Given the description of an element on the screen output the (x, y) to click on. 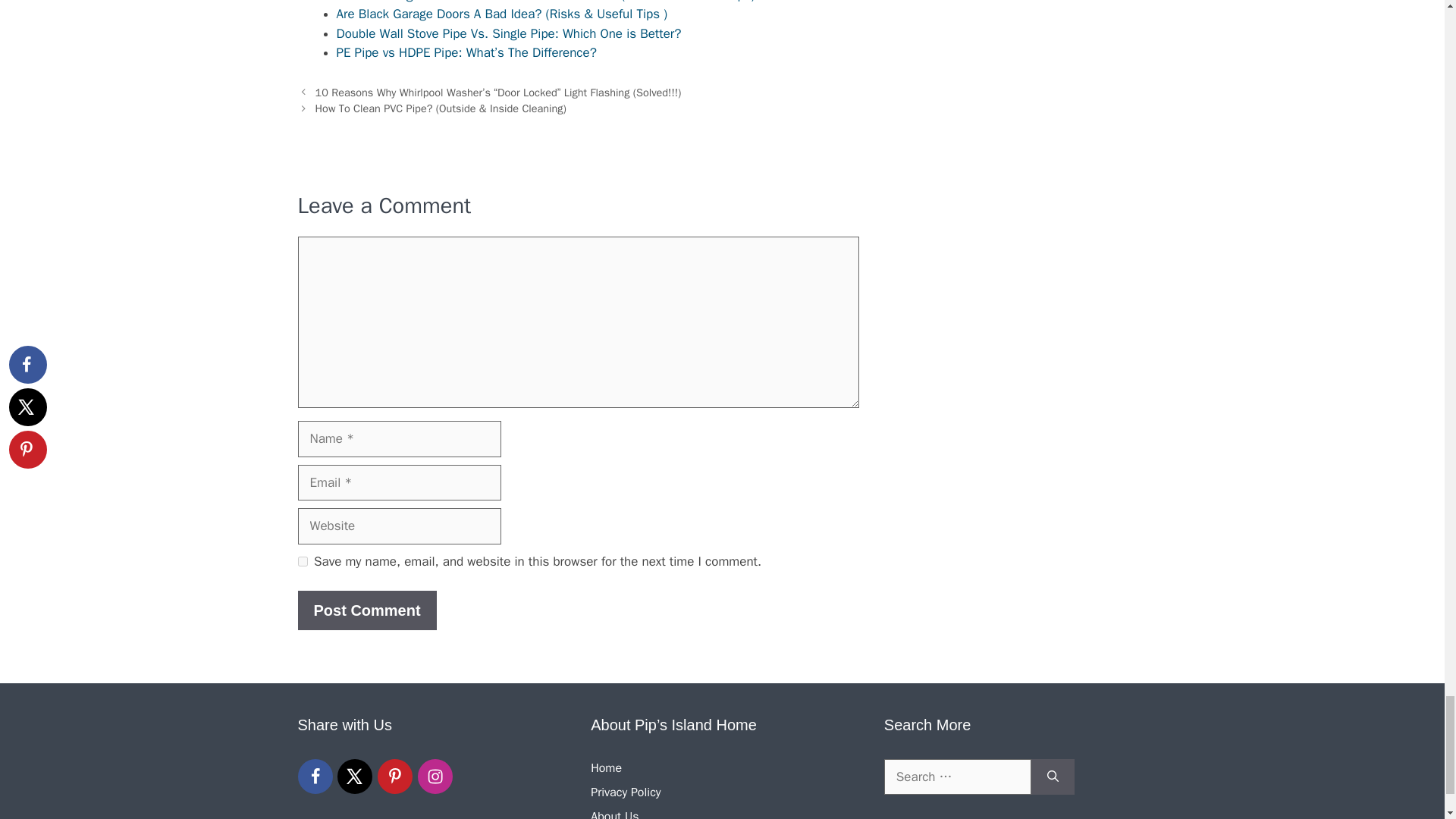
yes (302, 561)
Post Comment (366, 609)
